Given the description of an element on the screen output the (x, y) to click on. 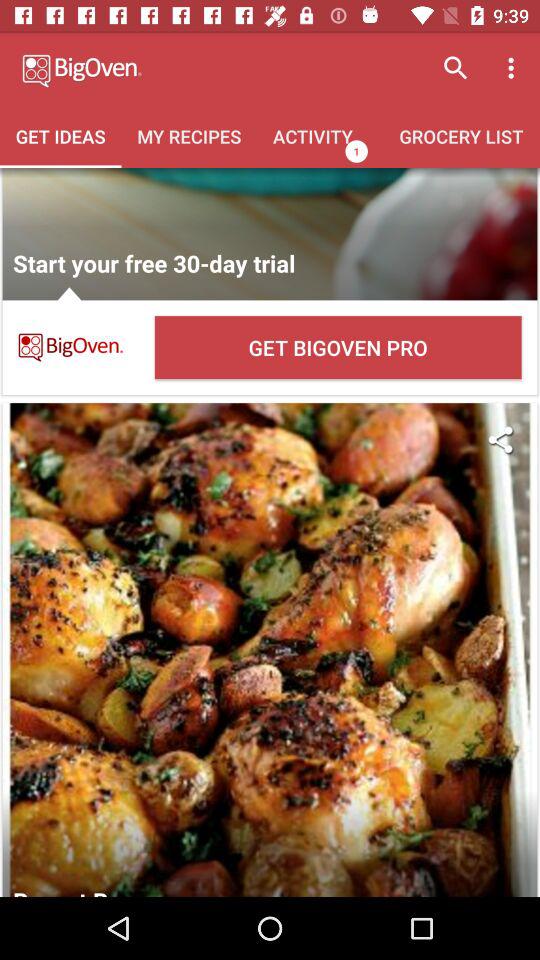
information bar (269, 234)
